Given the description of an element on the screen output the (x, y) to click on. 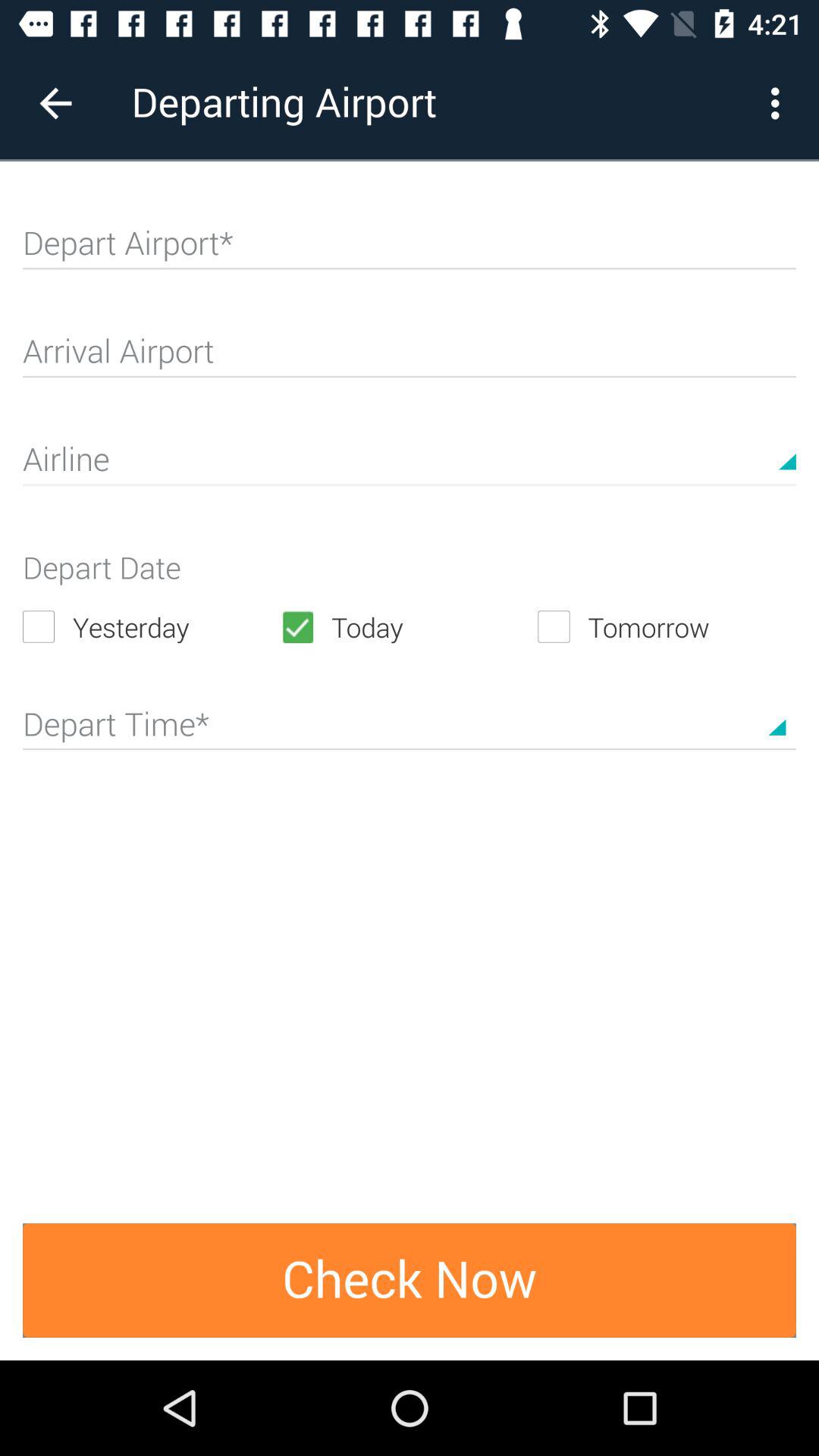
select tomorrow item (667, 626)
